Given the description of an element on the screen output the (x, y) to click on. 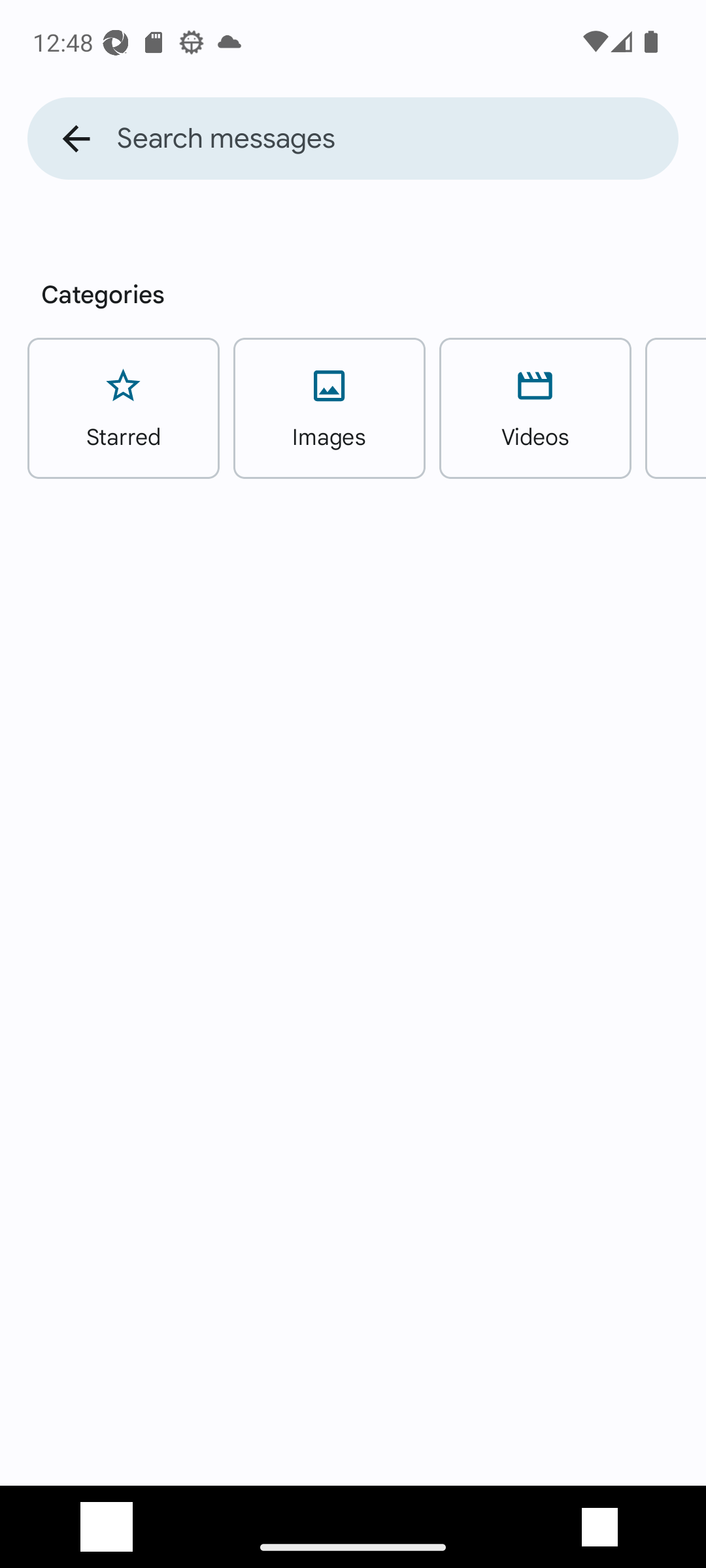
Go back (75, 138)
Search messages (397, 138)
Starred (123, 407)
Images (329, 407)
Videos (535, 407)
